Given the description of an element on the screen output the (x, y) to click on. 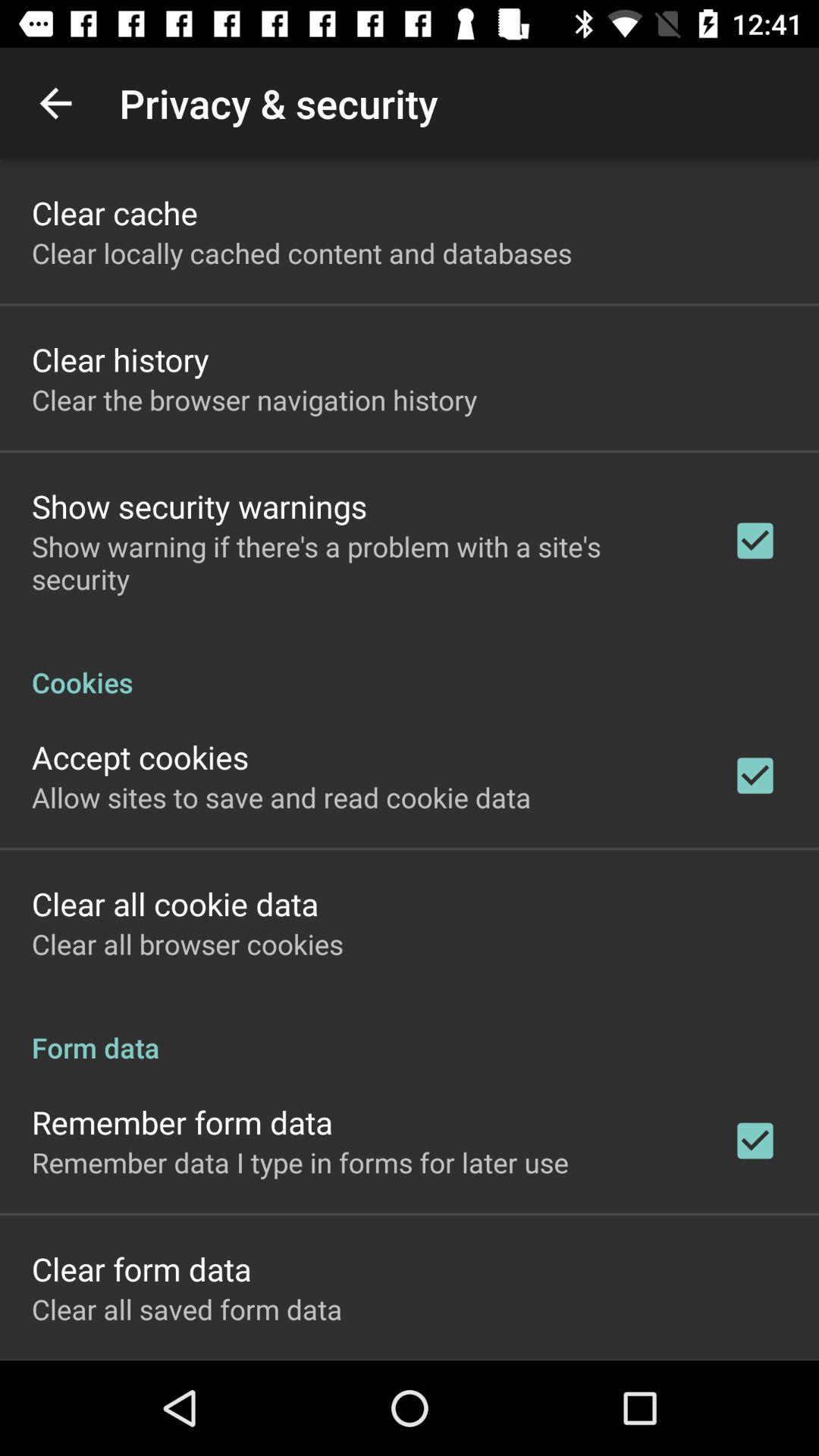
turn on item to the left of privacy & security app (55, 103)
